Given the description of an element on the screen output the (x, y) to click on. 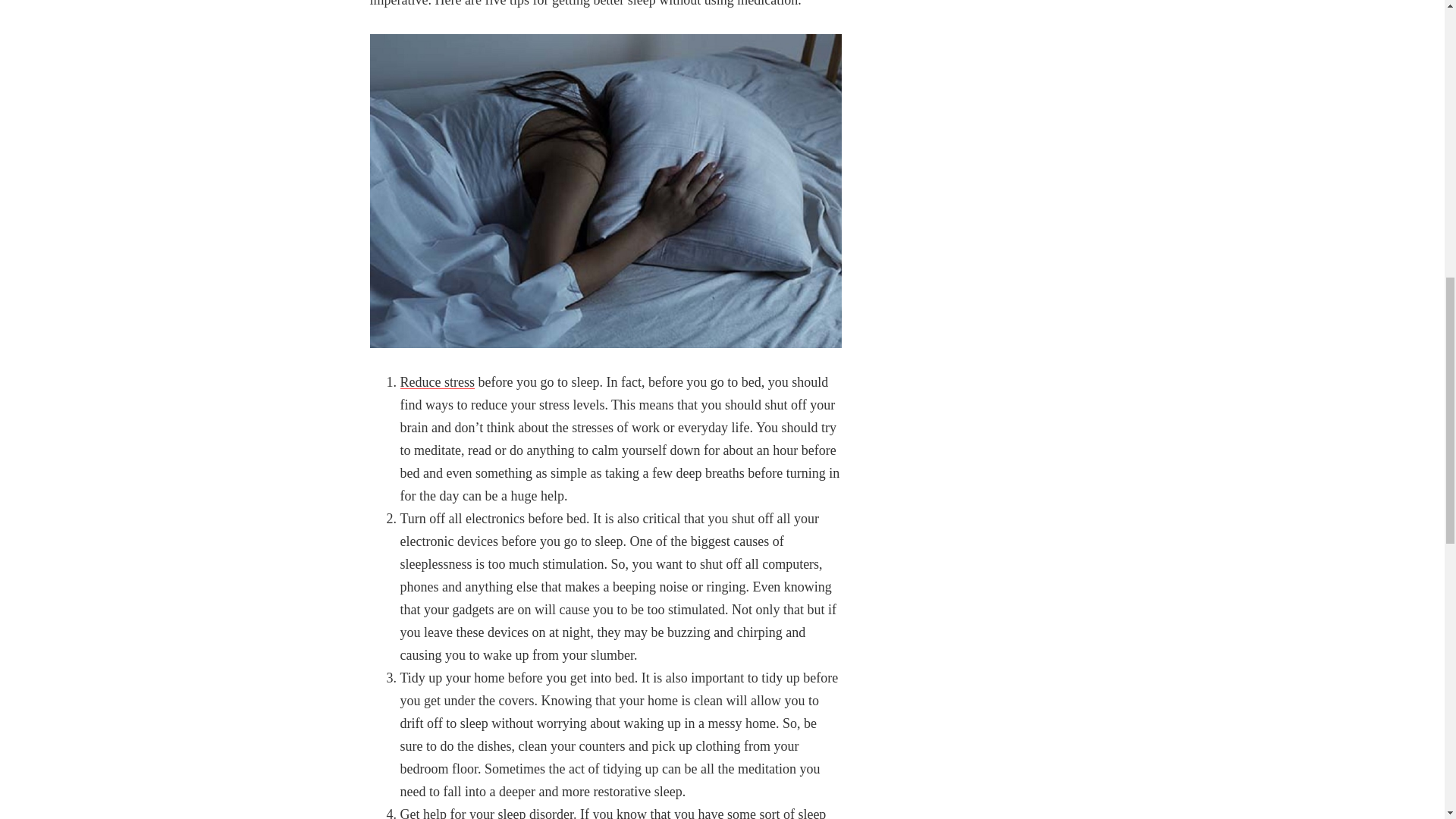
Reduce stress (437, 381)
